Given the description of an element on the screen output the (x, y) to click on. 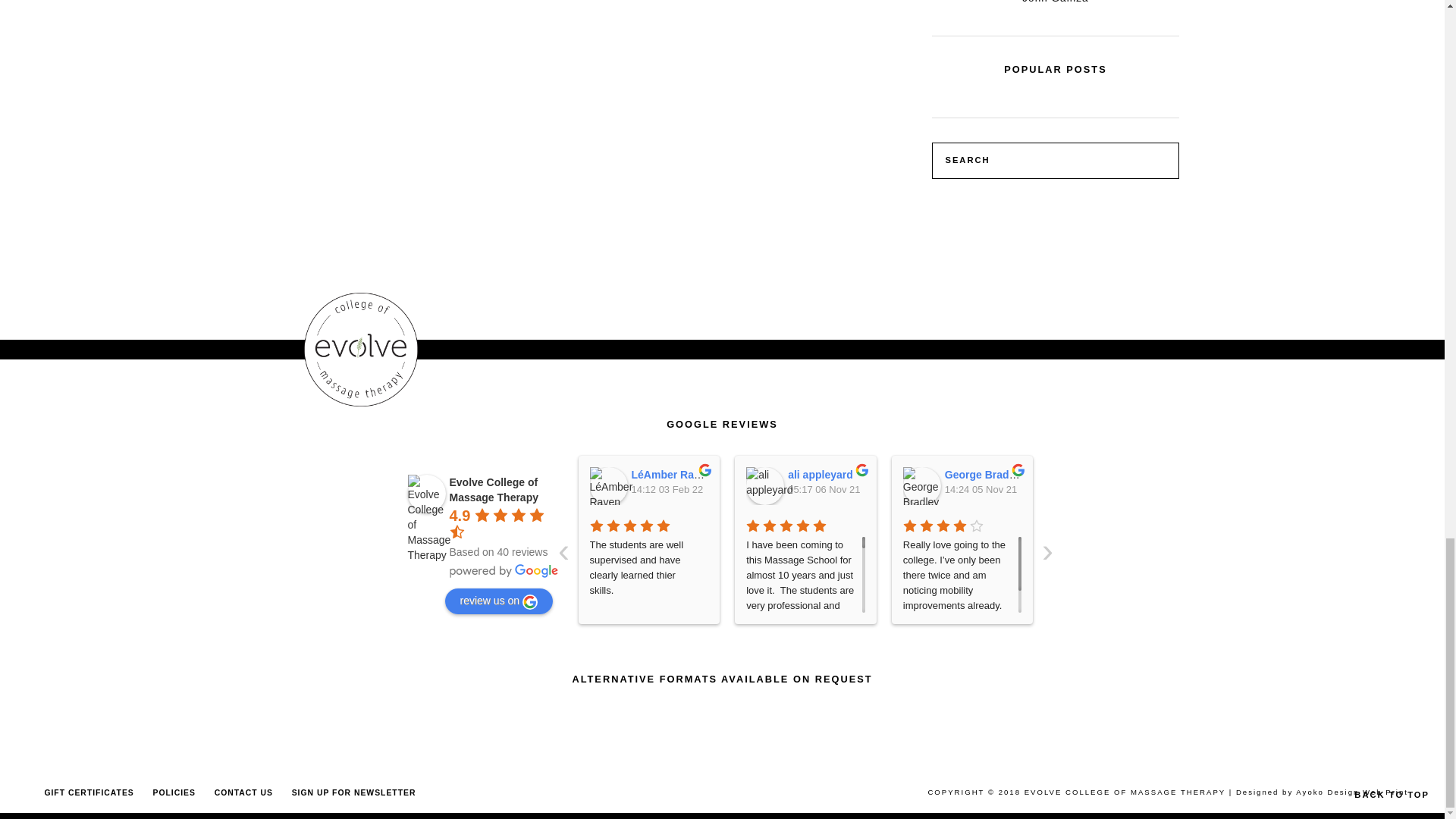
powered by Google (502, 571)
George Bradley (921, 485)
Evolve College of Massage Therapy (426, 493)
ali appleyard (764, 485)
Alice Jie Pan (1234, 485)
Carrie Broda (1078, 485)
